Given the description of an element on the screen output the (x, y) to click on. 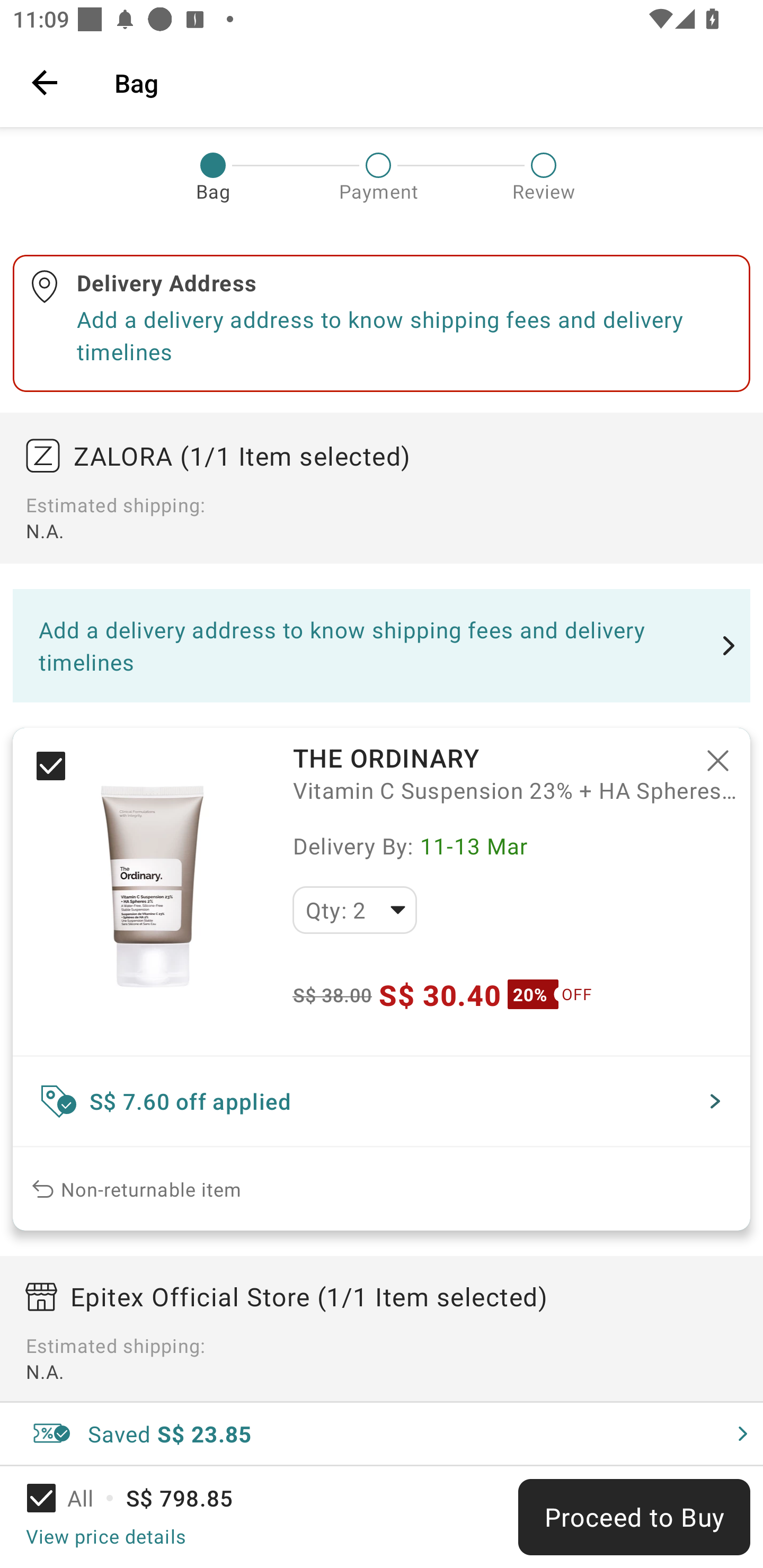
Navigate up (44, 82)
Bag (426, 82)
Qty: 2 (354, 909)
S$ 7.60 off applied (381, 1101)
Saved S$ 23.85 (381, 1433)
All (72, 1497)
Proceed to Buy (634, 1516)
View price details (105, 1535)
